Given the description of an element on the screen output the (x, y) to click on. 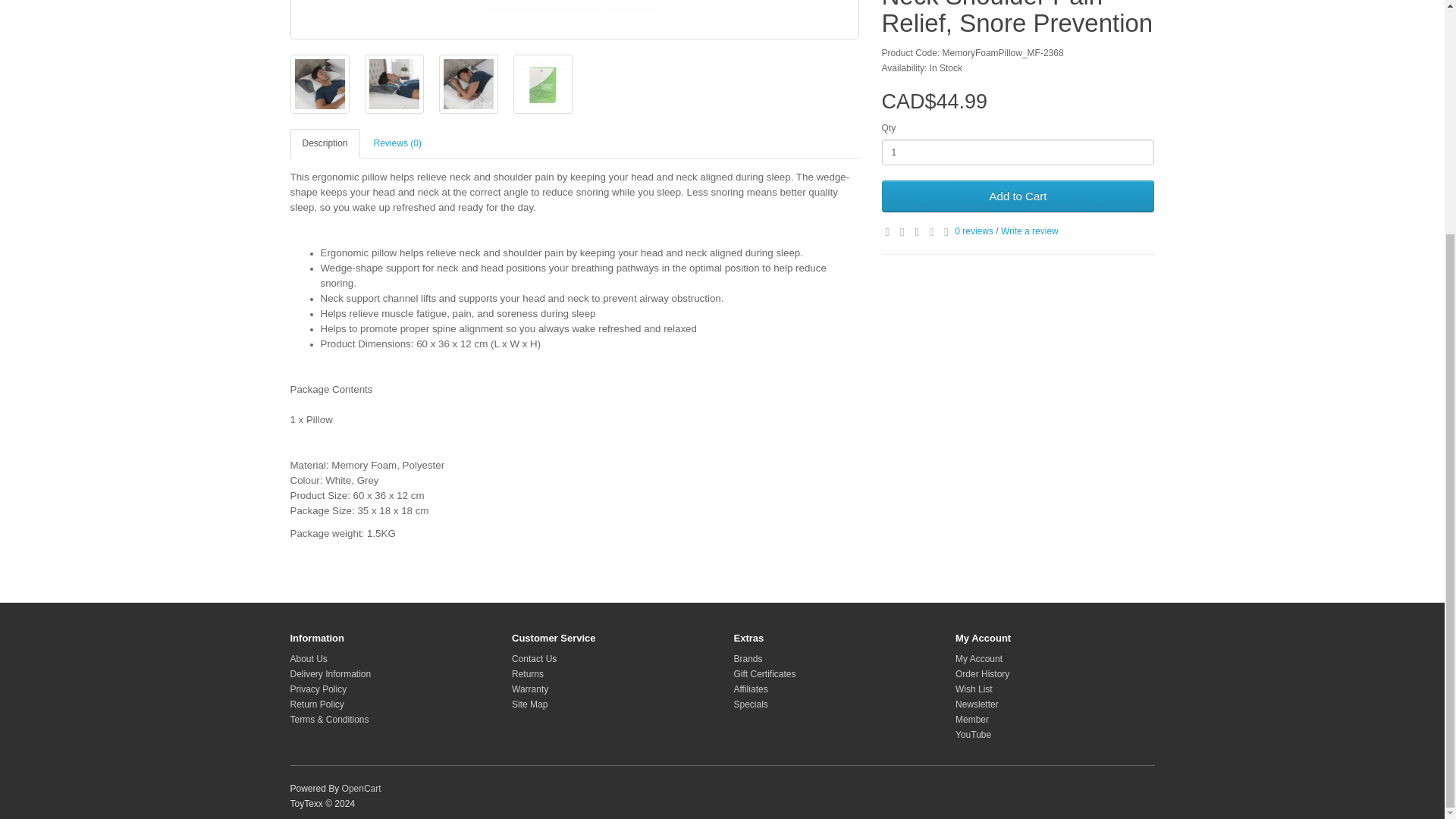
1 (1017, 152)
